Given the description of an element on the screen output the (x, y) to click on. 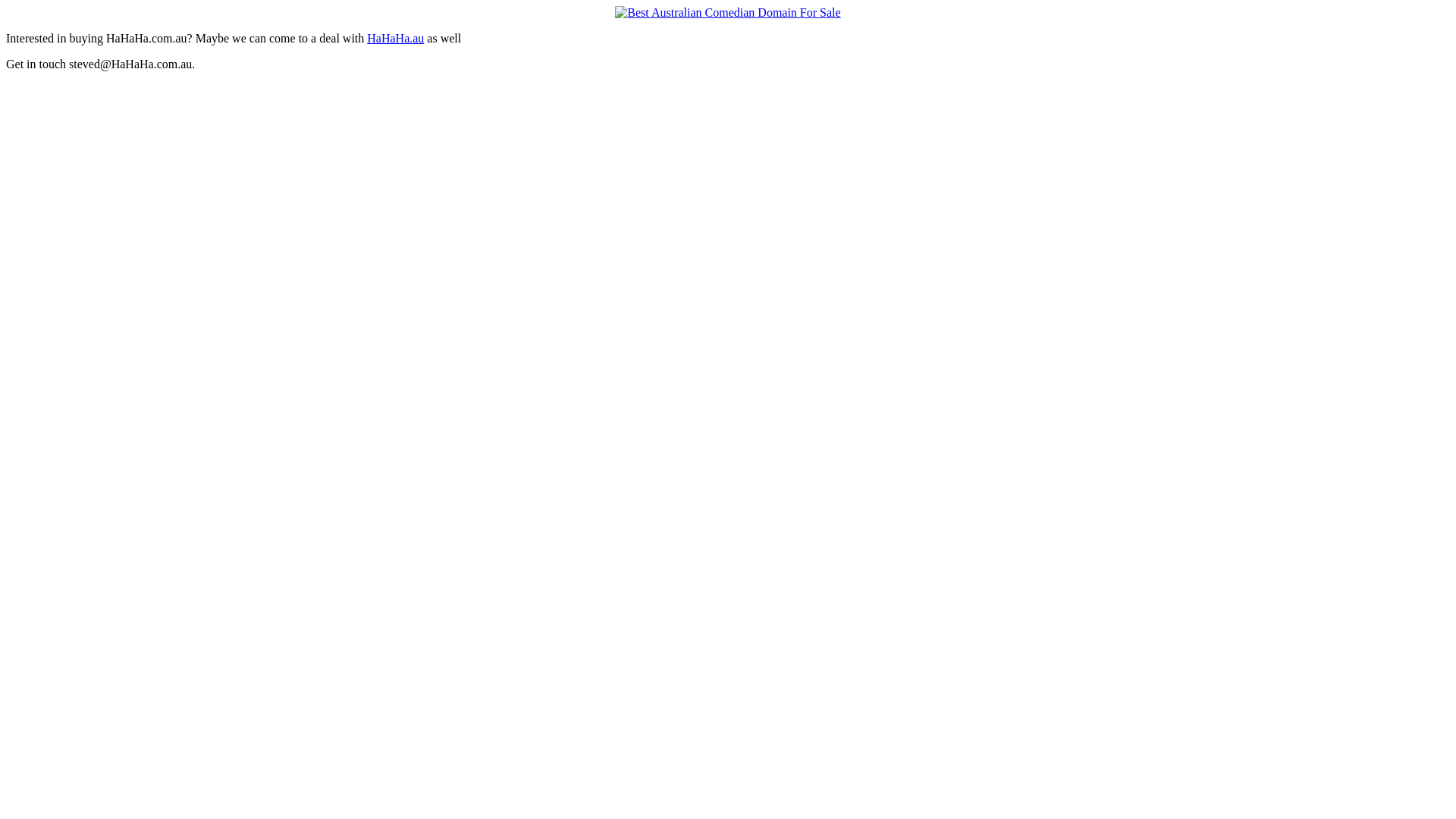
HaHaHa.au Element type: text (395, 37)
